Given the description of an element on the screen output the (x, y) to click on. 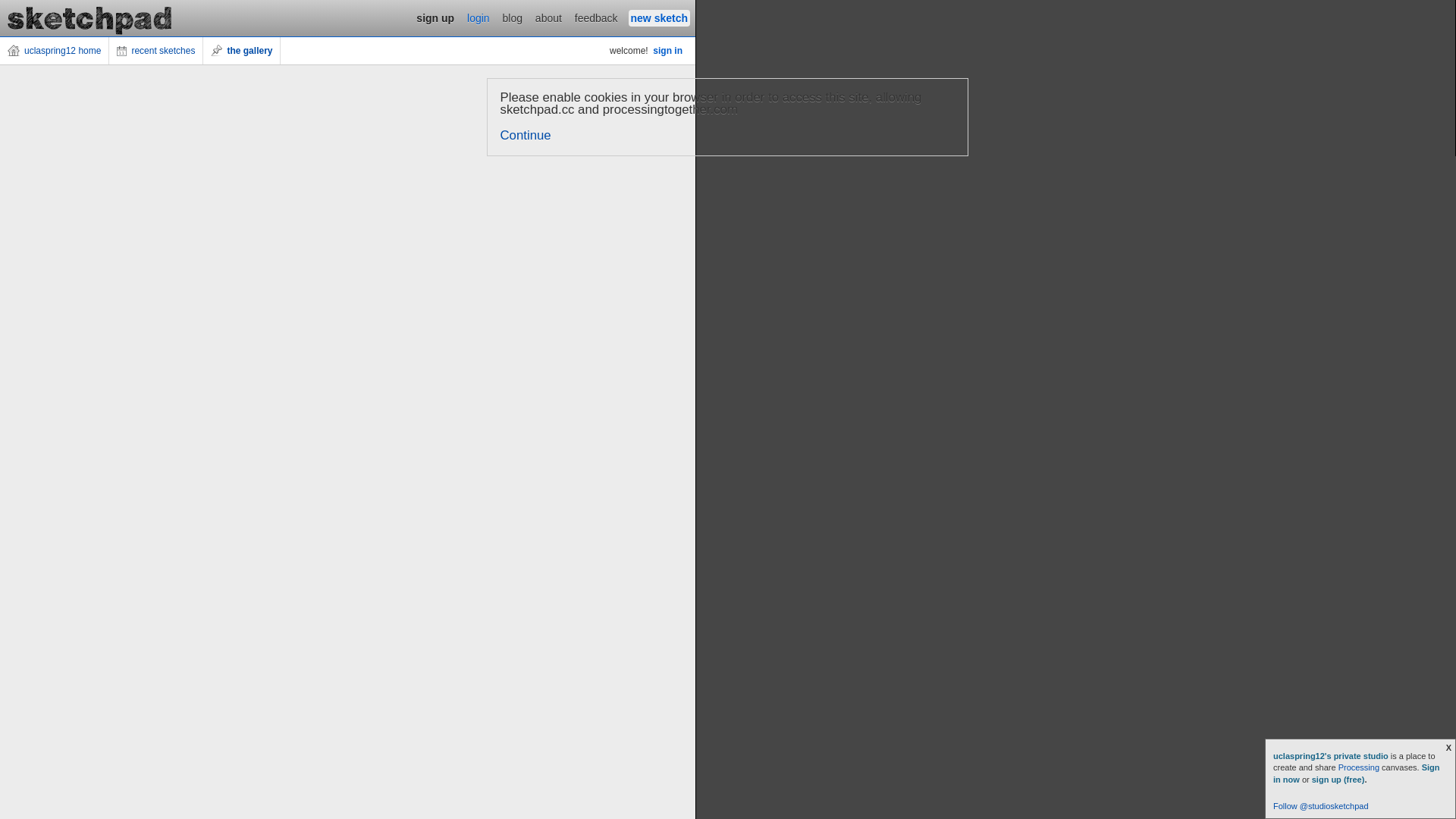
blog Element type: text (512, 17)
Continue Element type: text (525, 135)
sign up Element type: text (435, 17)
Follow @studiosketchpad Element type: text (1320, 805)
about Element type: text (548, 17)
uclaspring12 home Element type: text (54, 50)
uclaspring12's private studio Element type: text (1331, 755)
login Element type: text (478, 17)
recent sketches Element type: text (156, 50)
Sign in now Element type: text (1356, 772)
new sketch Element type: text (659, 17)
the gallery Element type: text (241, 50)
sign up (free) Element type: text (1338, 779)
Processing Element type: text (1358, 766)
sign in Element type: text (667, 50)
Studio Sketchpad is Processing on Etherpad Element type: hover (90, 18)
feedback Element type: text (596, 17)
